Given the description of an element on the screen output the (x, y) to click on. 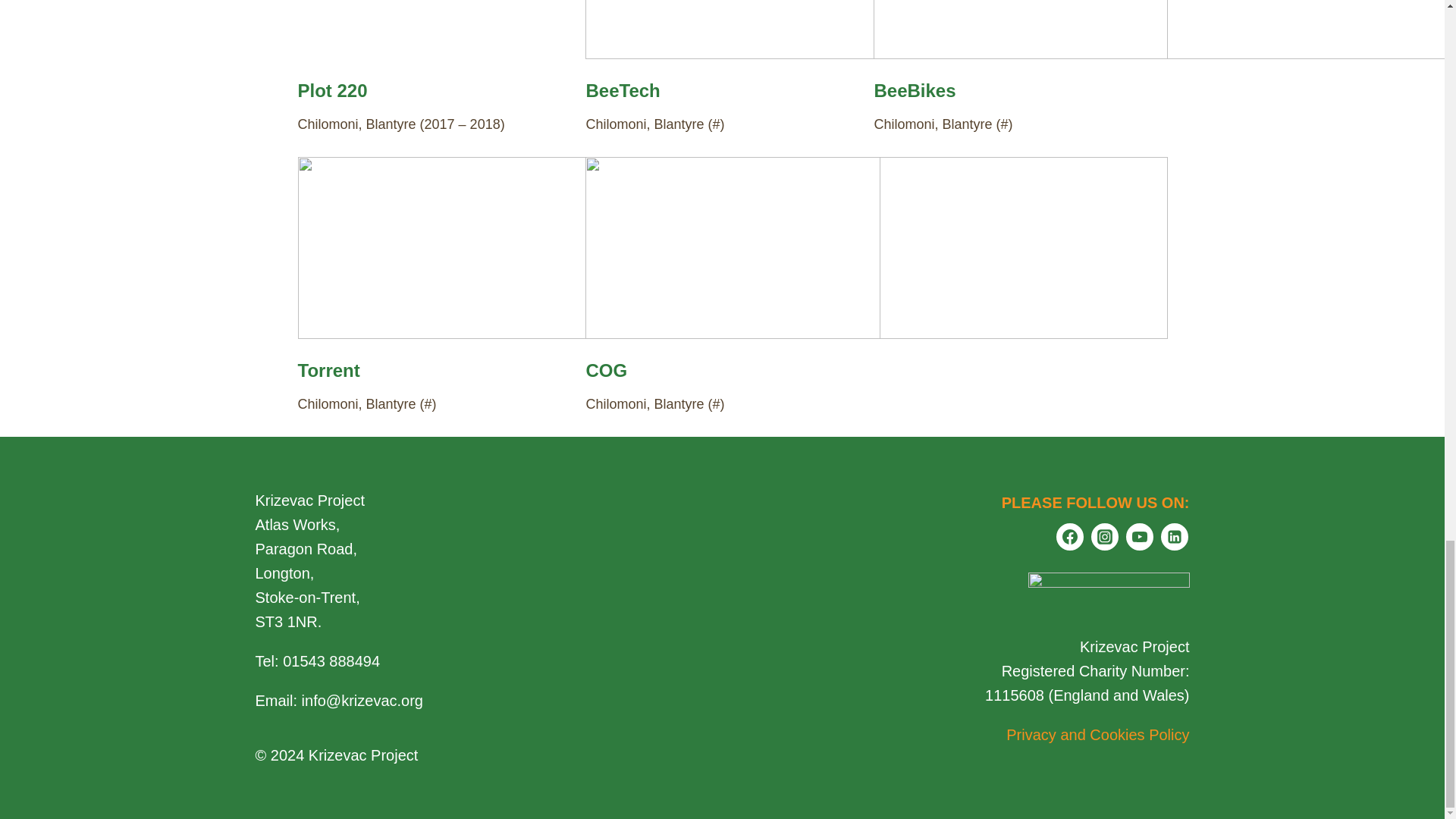
BeeTech (622, 90)
Plot 220 (331, 90)
BeeBikes (914, 90)
COG (606, 370)
Torrent (328, 370)
Privacy and Cookies Policy (1097, 734)
